Given the description of an element on the screen output the (x, y) to click on. 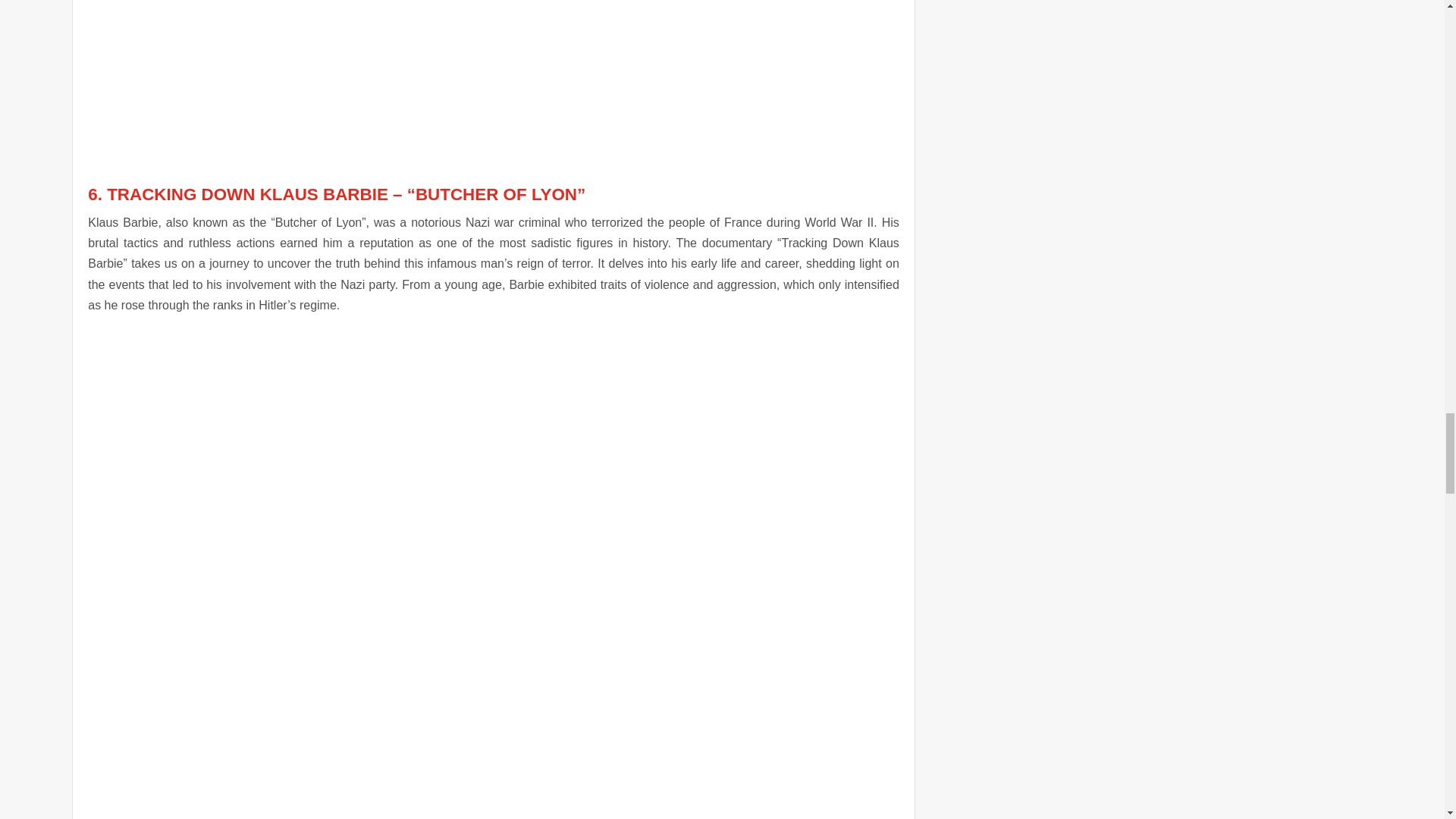
Hotel Terminus 1of2 (493, 67)
